Given the description of an element on the screen output the (x, y) to click on. 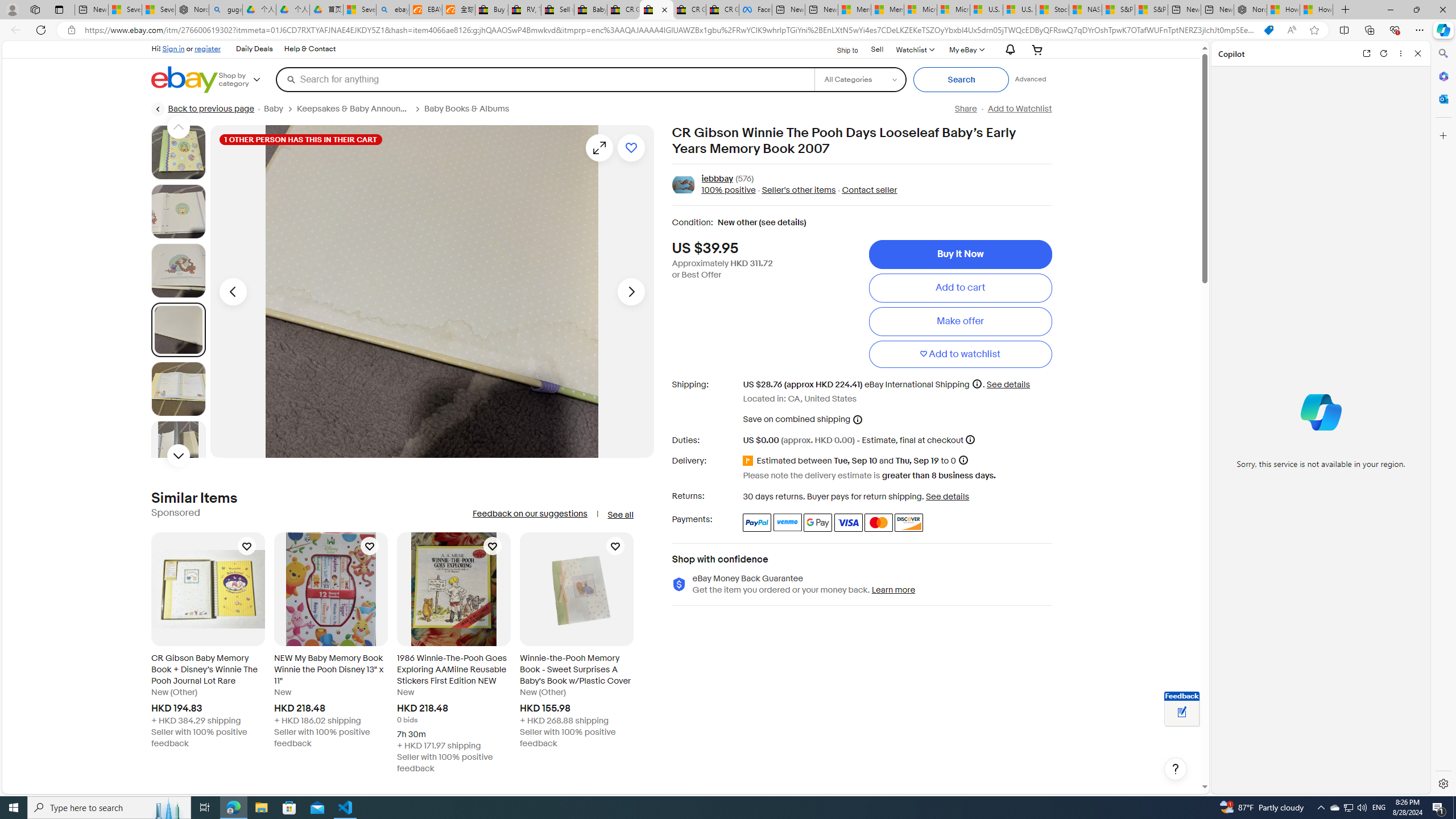
Venmo (787, 521)
eBay Home (184, 79)
Ship to (839, 50)
Picture 4 of 22 (178, 329)
Microsoft 365 (1442, 76)
Picture 1 of 22 (178, 152)
AutomationID: gh-eb-Alerts (1008, 49)
Contact seller (868, 190)
Share (964, 108)
More information on Combined Shipping. Opens a layer. (857, 419)
